Given the description of an element on the screen output the (x, y) to click on. 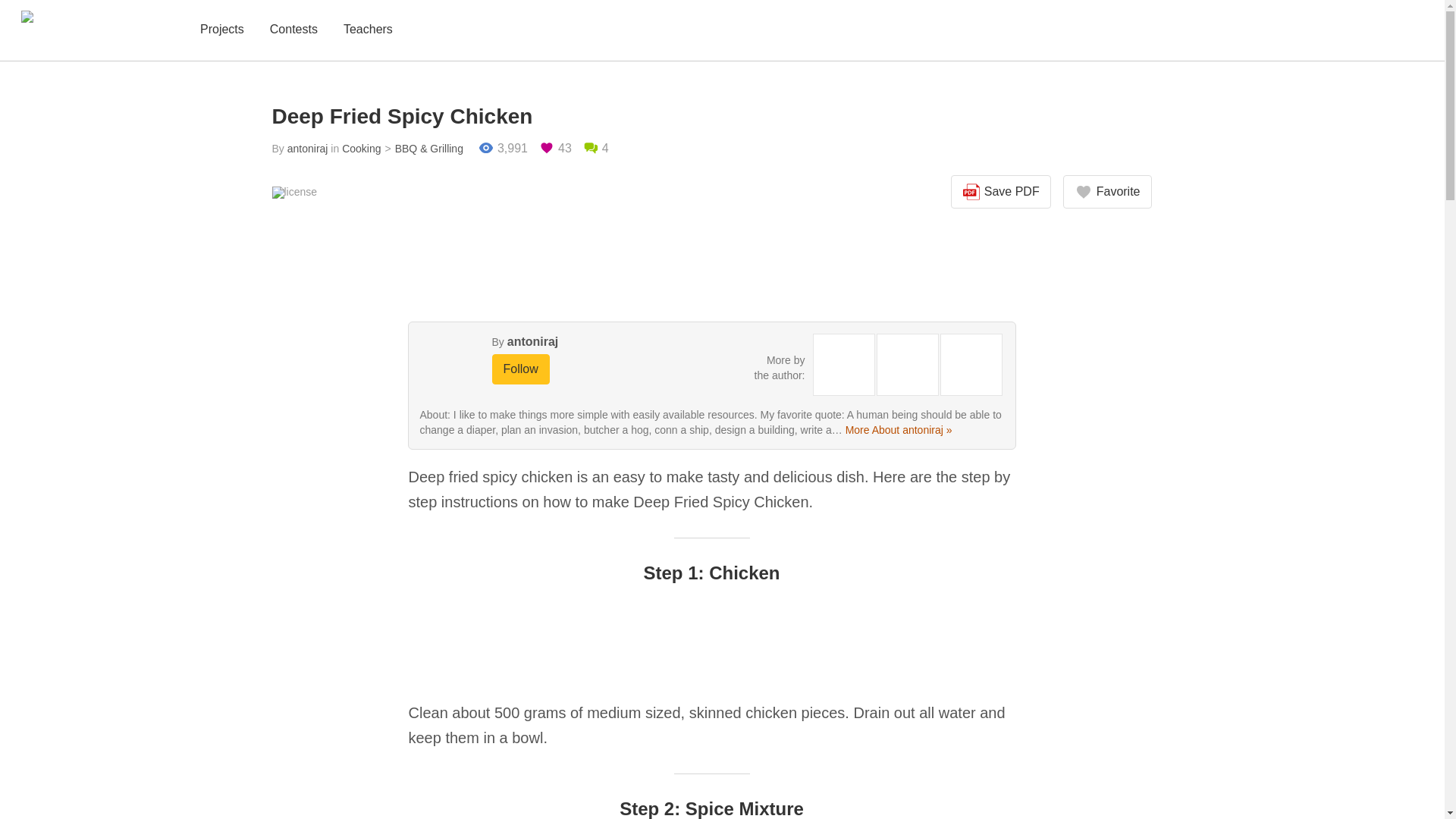
Projects (221, 30)
antoniraj (307, 148)
4 (595, 148)
Cooking (361, 148)
Teachers (368, 30)
Favorite (1106, 191)
antoniraj (532, 341)
Follow (520, 368)
Contests (293, 30)
Save PDF (1000, 191)
